Given the description of an element on the screen output the (x, y) to click on. 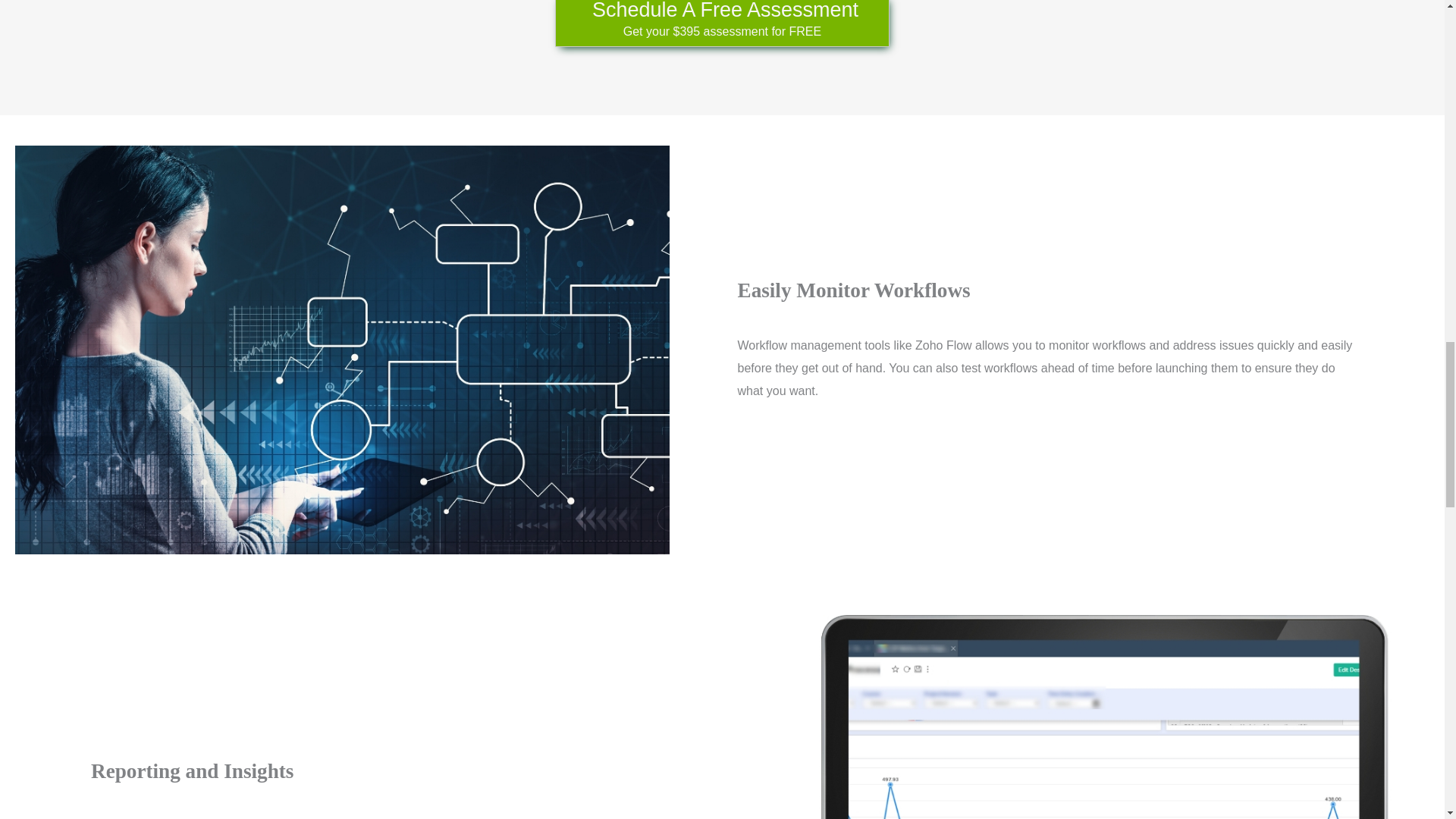
Reporting and Insights (1101, 717)
